Given the description of an element on the screen output the (x, y) to click on. 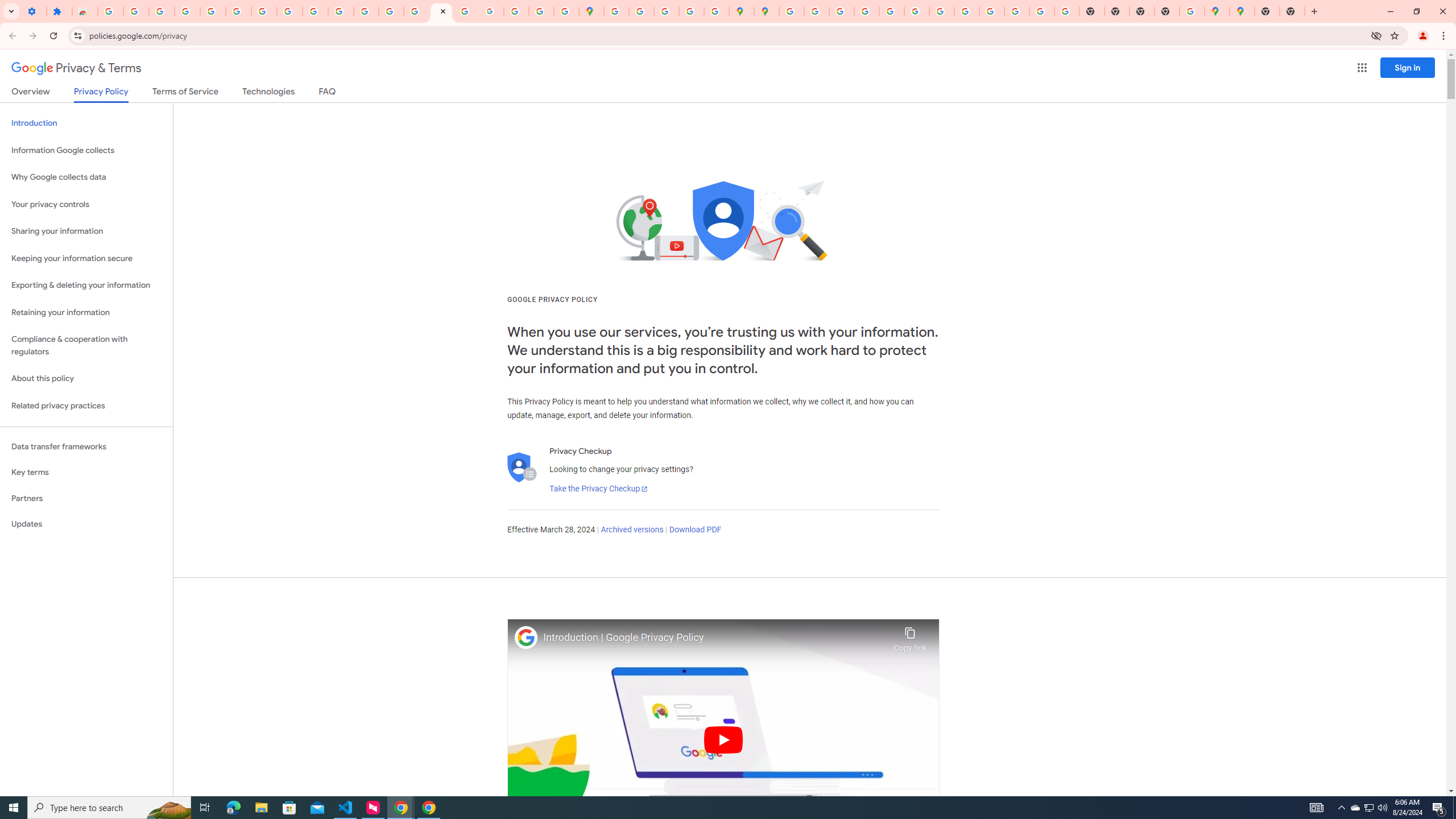
Data transfer frameworks (86, 446)
About this policy (86, 379)
Introduction | Google Privacy Policy (715, 637)
YouTube (289, 11)
Sign in - Google Accounts (791, 11)
Google Maps (1241, 11)
Photo image of Google (526, 636)
Browse Chrome as a guest - Computer - Google Chrome Help (966, 11)
